Given the description of an element on the screen output the (x, y) to click on. 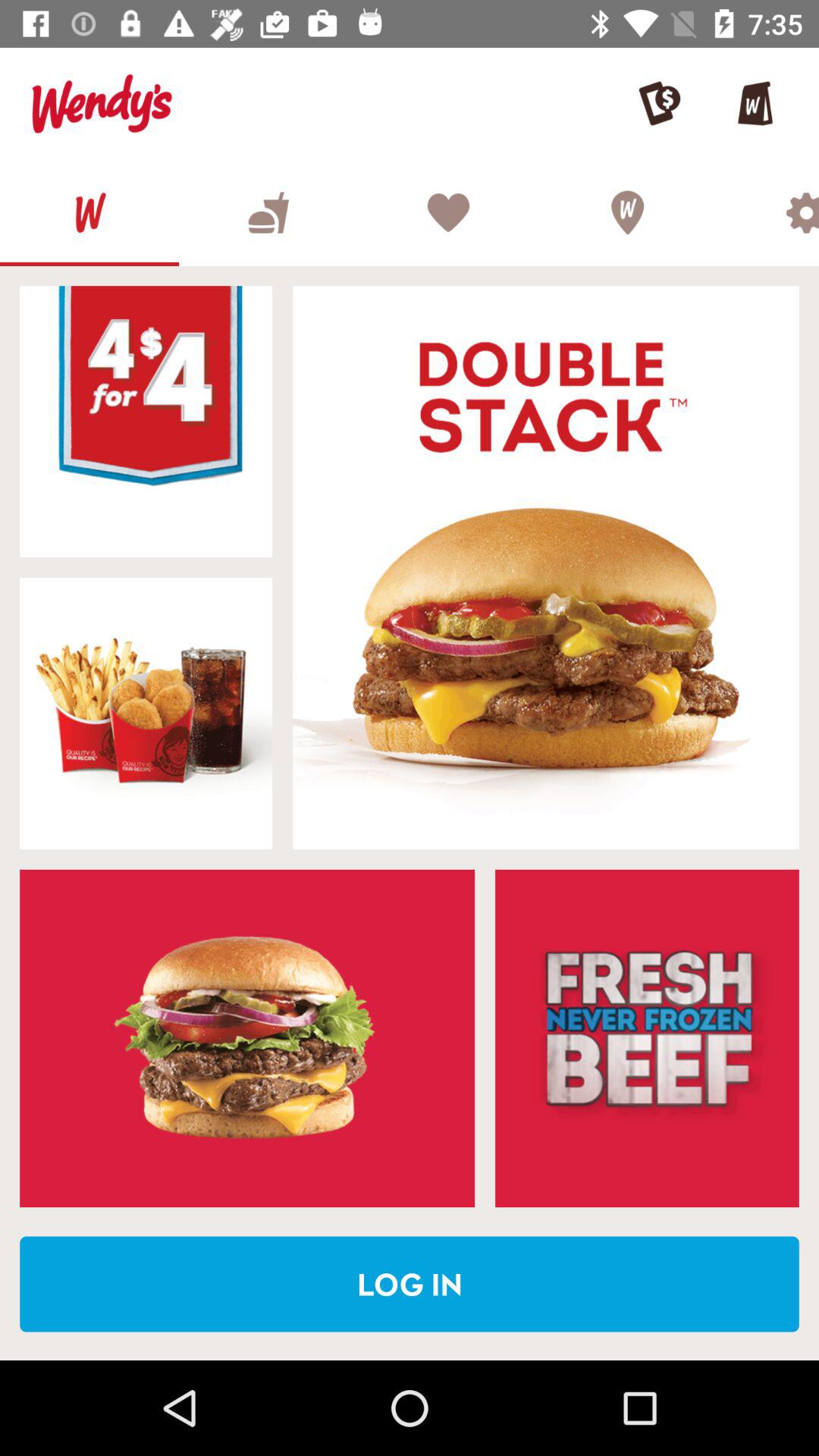
choose the best burger (268, 212)
